Given the description of an element on the screen output the (x, y) to click on. 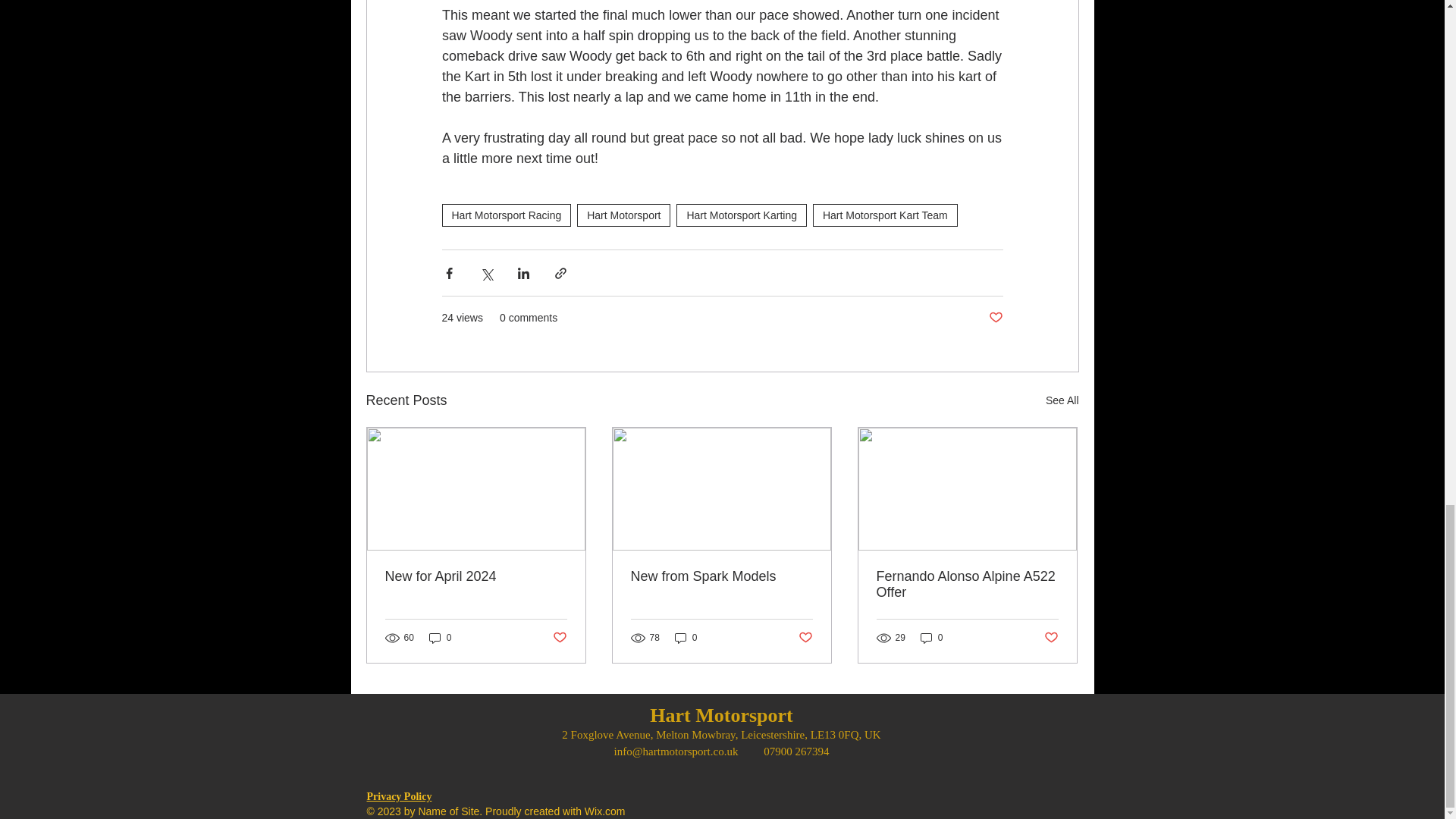
Hart Motorsport Kart Team (885, 214)
Hart Motorsport (622, 214)
Hart Motorsport Karting (741, 214)
Hart Motorsport Racing (505, 214)
